Given the description of an element on the screen output the (x, y) to click on. 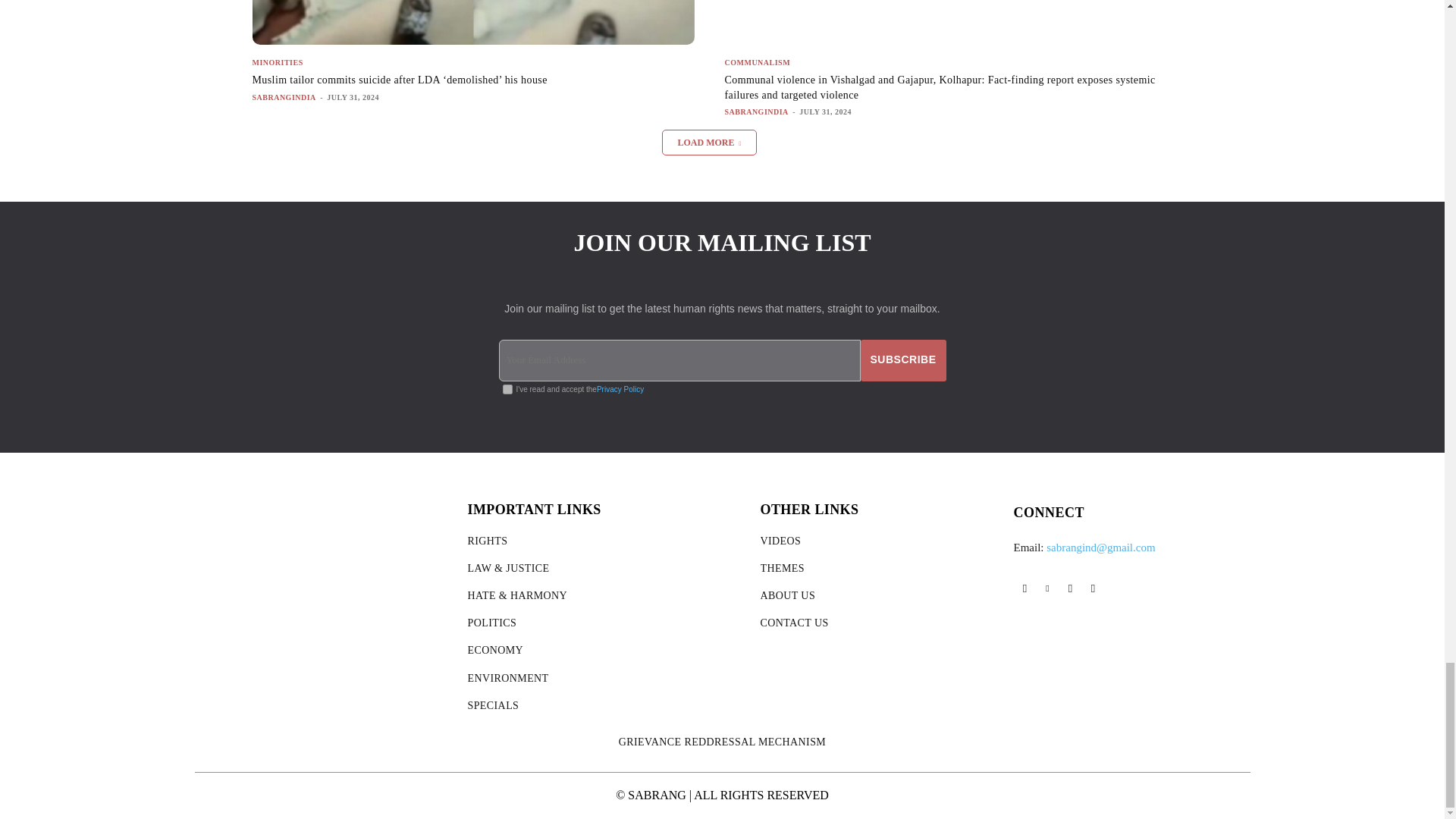
Subscribe (903, 359)
